Given the description of an element on the screen output the (x, y) to click on. 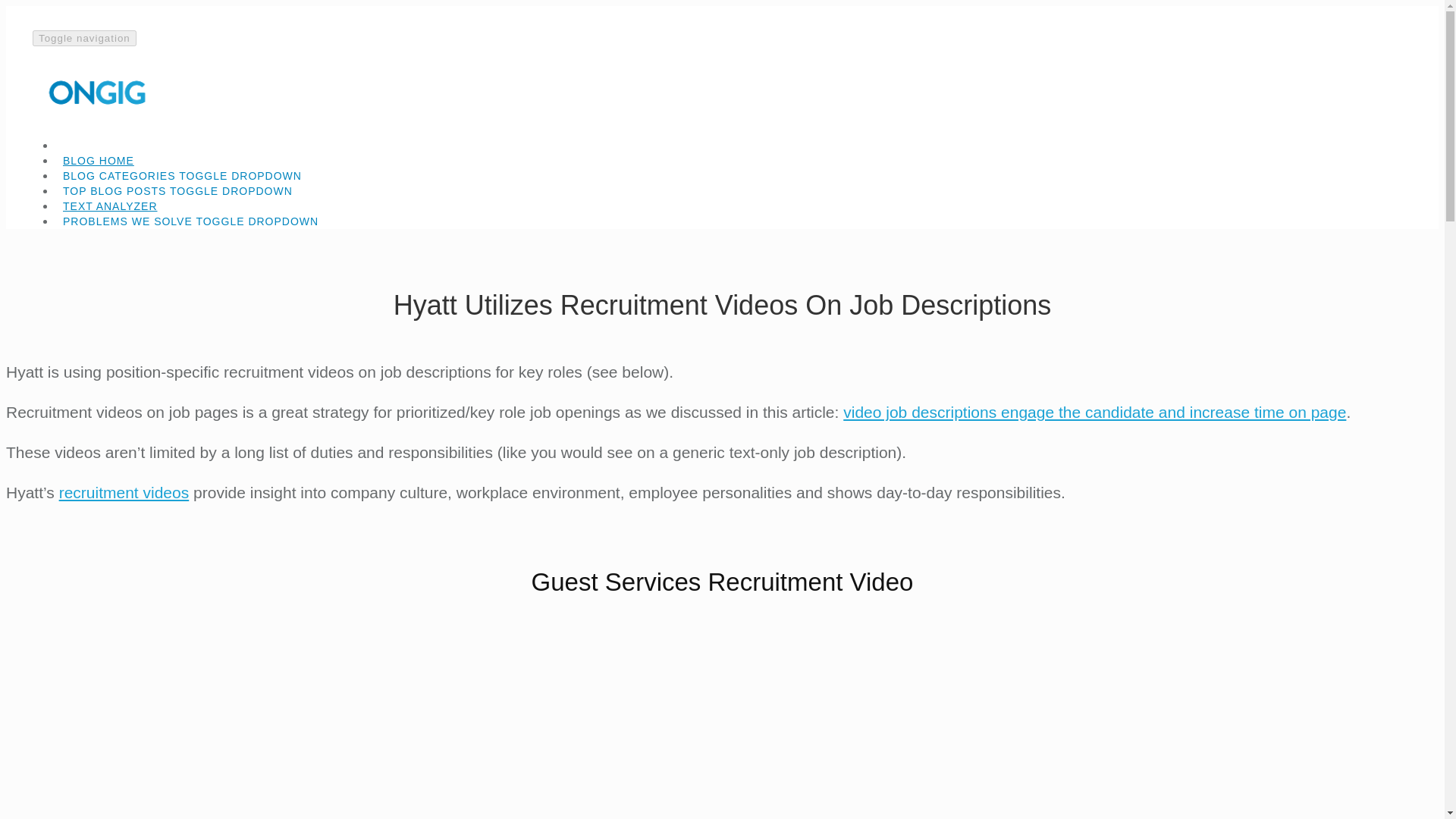
Toggle navigation (84, 37)
recruitment videos (124, 492)
TEXT ANALYZER (110, 199)
BLOG HOME (98, 154)
TOP BLOG POSTS TOGGLE DROPDOWN (177, 184)
PROBLEMS WE SOLVE TOGGLE DROPDOWN (737, 221)
BLOG HOME (98, 154)
PROBLEMS WE SOLVE TOGGLE DROPDOWN (190, 215)
BLOG CATEGORIES TOGGLE DROPDOWN (181, 169)
TEXT ANALYZER (110, 199)
TOP BLOG POSTS TOGGLE DROPDOWN (737, 191)
